Given the description of an element on the screen output the (x, y) to click on. 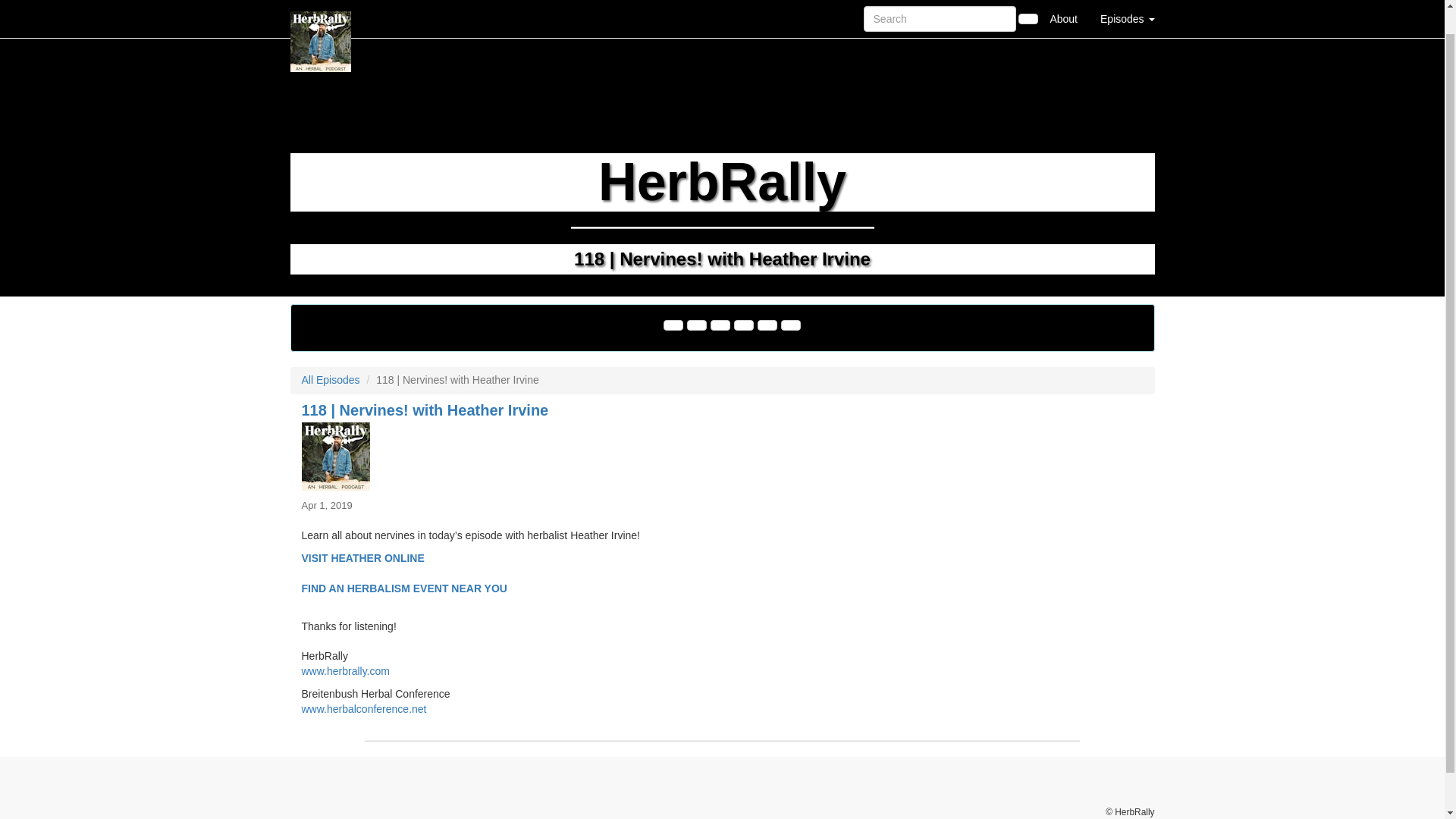
About (1063, 6)
Episodes (1127, 6)
Home Page (320, 6)
